Given the description of an element on the screen output the (x, y) to click on. 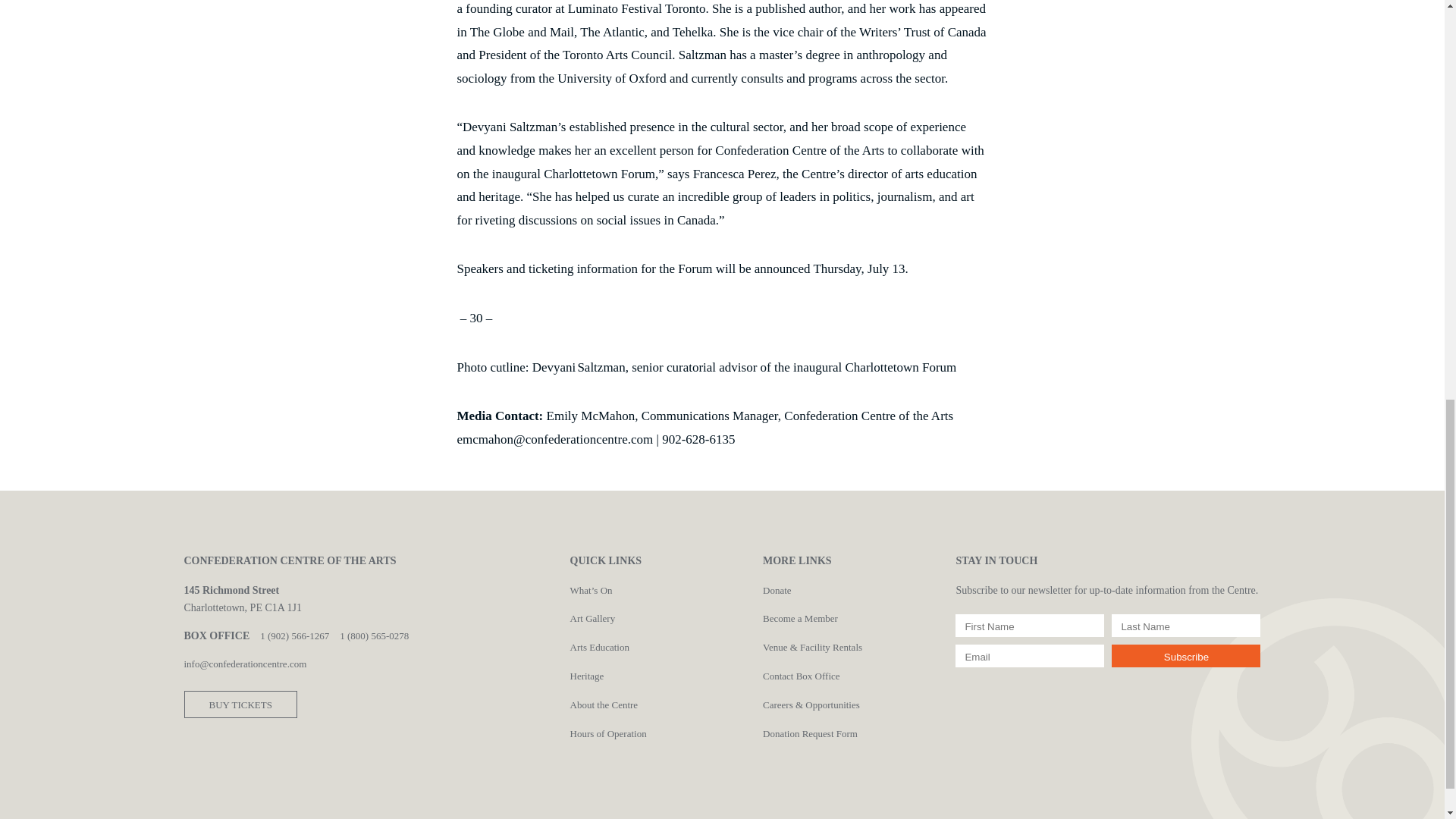
Subscribe (1186, 655)
